Given the description of an element on the screen output the (x, y) to click on. 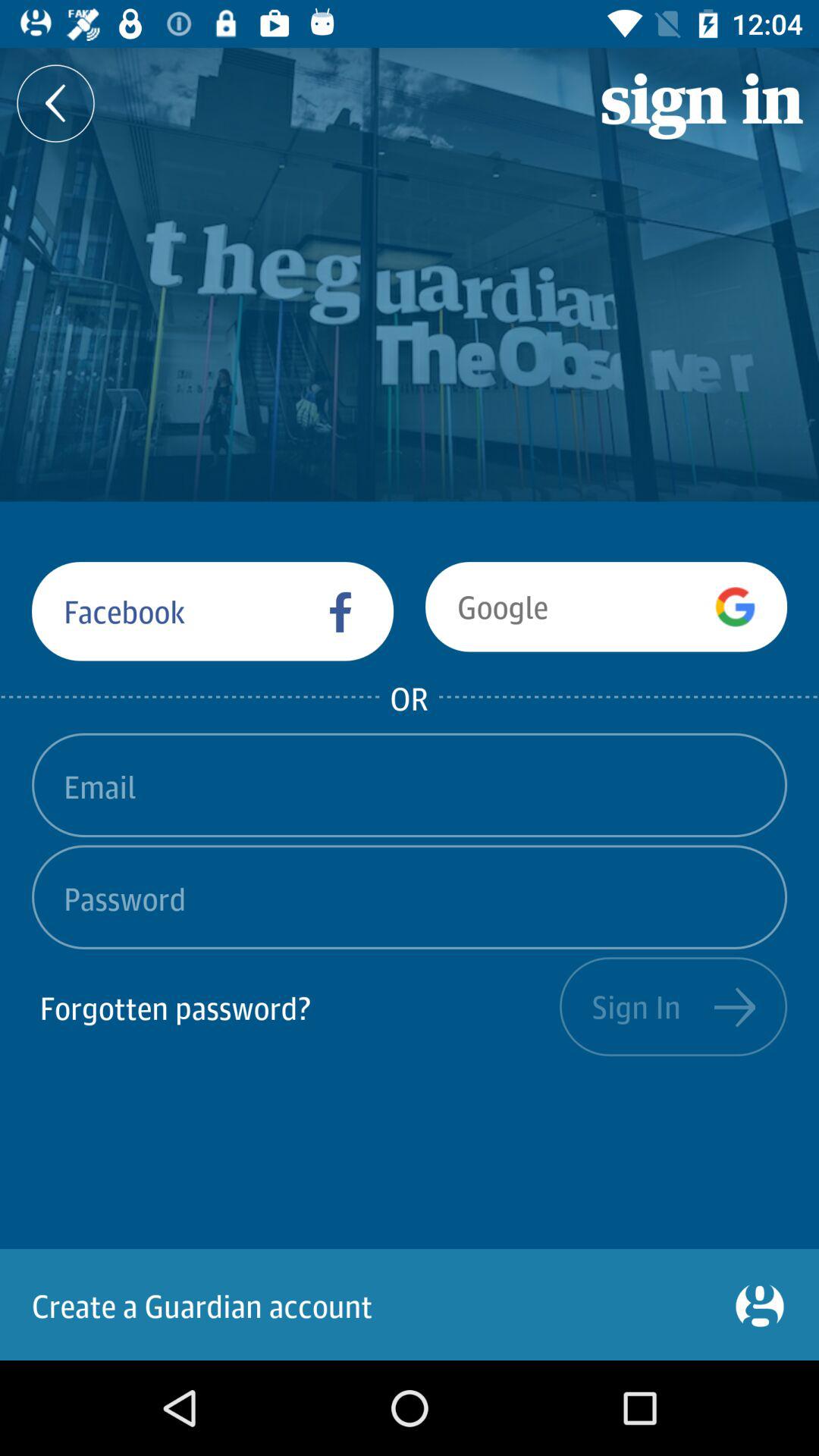
open the item below or icon (409, 785)
